Given the description of an element on the screen output the (x, y) to click on. 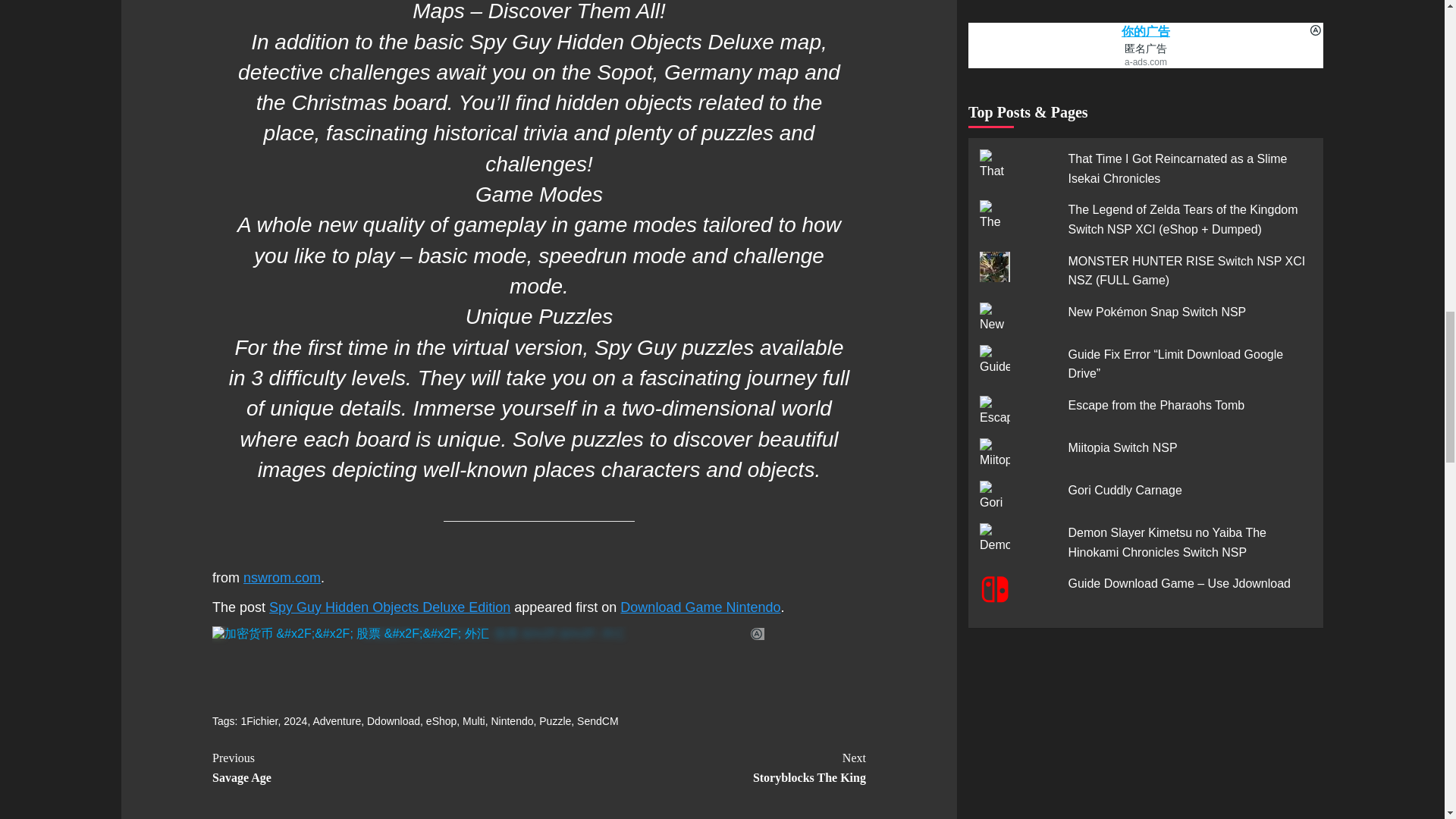
Multi (473, 720)
2024 (375, 767)
SendCM (295, 720)
Spy Guy Hidden Objects Deluxe Edition (596, 720)
Ddownload (390, 607)
Puzzle (393, 720)
Adventure (702, 767)
nswrom.com (554, 720)
